Given the description of an element on the screen output the (x, y) to click on. 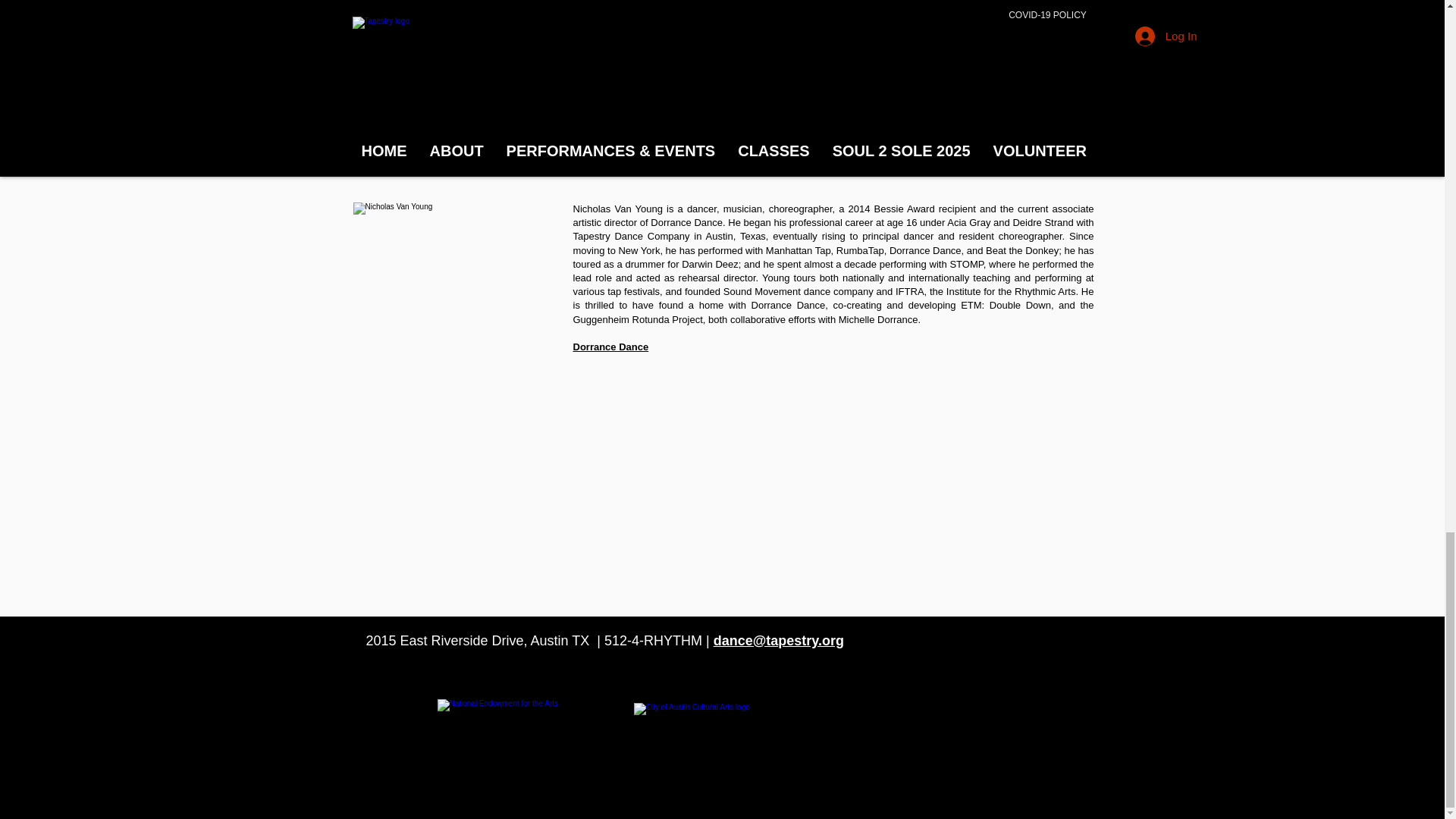
www.aciagray.com (617, 6)
Dorrance Dance (611, 346)
